Given the description of an element on the screen output the (x, y) to click on. 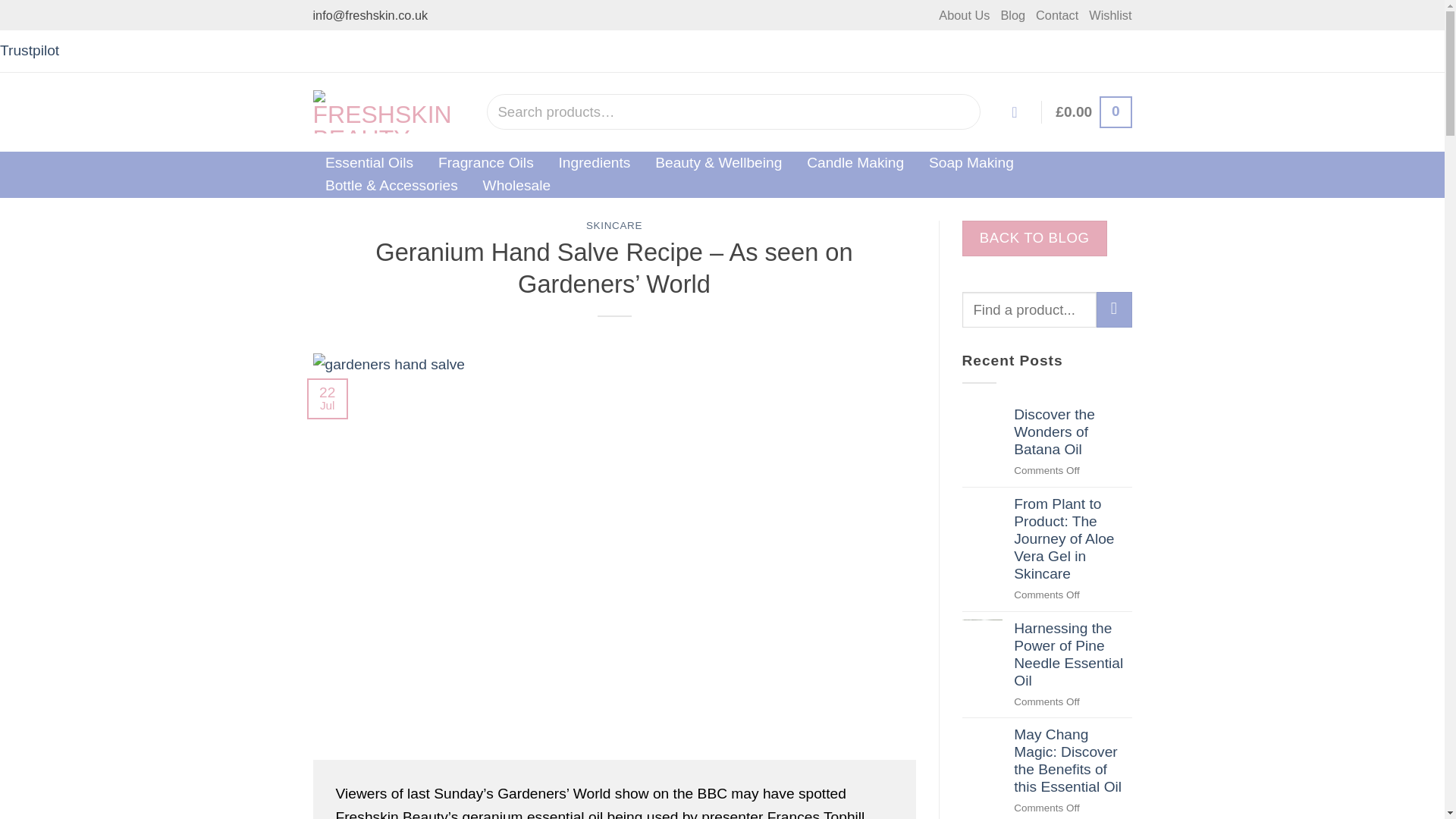
Discover the Wonders of Batana Oil (1072, 431)
Essential Oils (369, 162)
Wishlist (1110, 15)
Freshskin Beauty - Invigorate your mind, body and soul (388, 111)
Contact (1056, 15)
About Us (964, 15)
Basket (1093, 112)
Harnessing the Power of Pine Needle Essential Oil (1072, 654)
Trustpilot (29, 50)
